Given the description of an element on the screen output the (x, y) to click on. 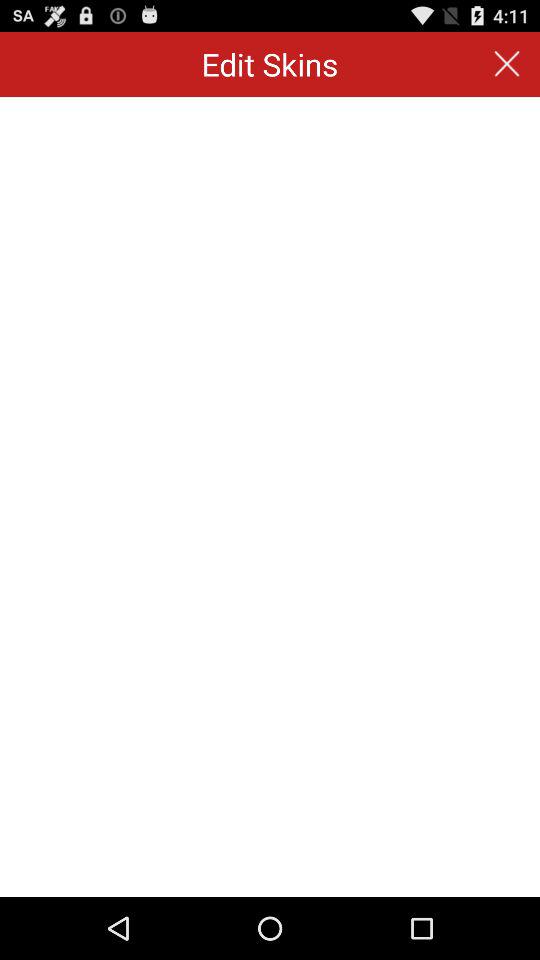
press the icon to the right of edit skins app (506, 64)
